Given the description of an element on the screen output the (x, y) to click on. 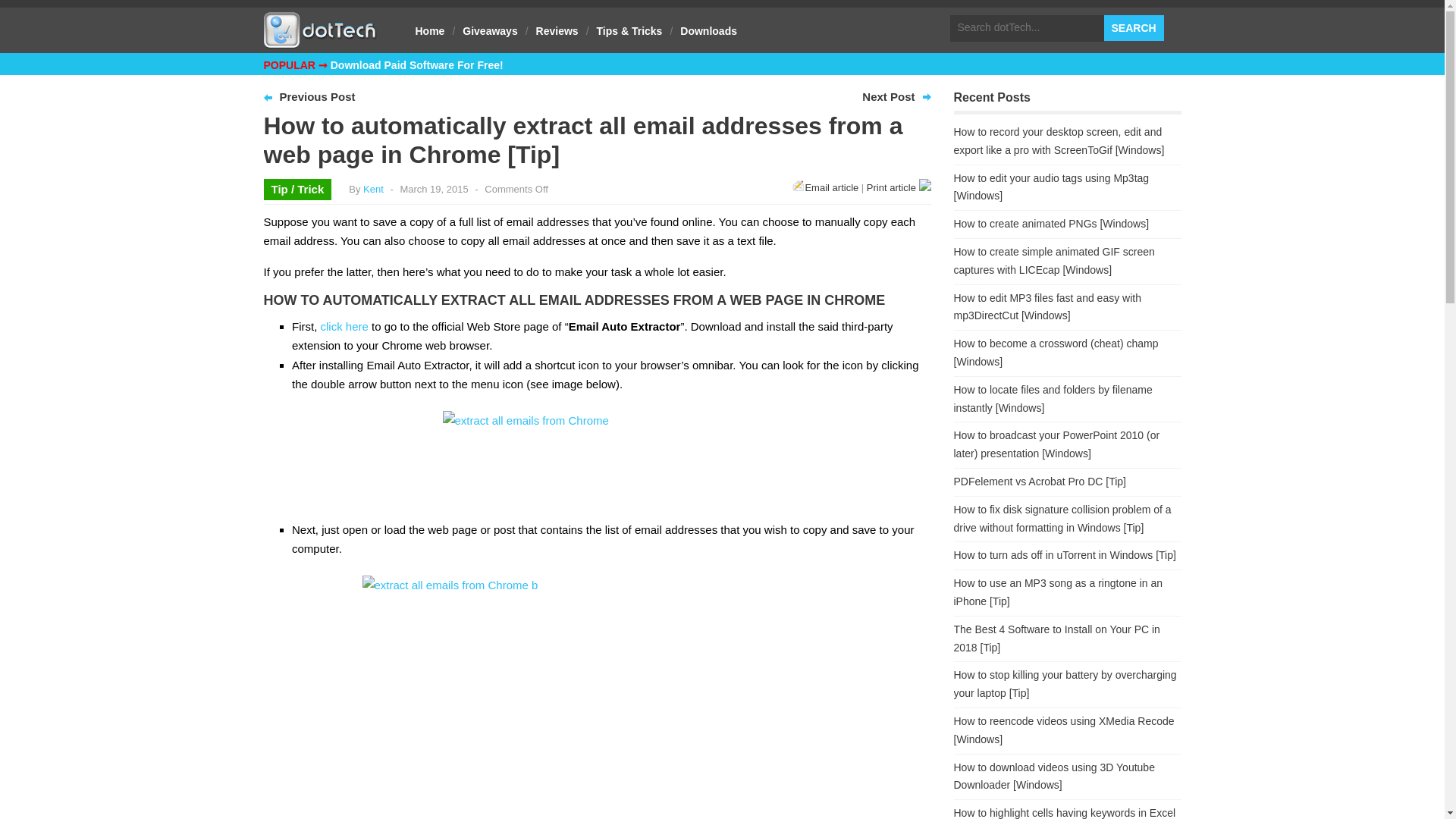
Kent (373, 188)
Reviews (557, 30)
Giveaways (489, 30)
Downloads (708, 30)
Email article (825, 187)
Posts by Kent (373, 188)
Print article (898, 187)
Home (429, 30)
Next Post (887, 96)
Search (1133, 27)
click here (344, 326)
Search (1133, 27)
Previous Post (317, 96)
dotTech (320, 40)
Download Paid Software For Free! (416, 64)
